Given the description of an element on the screen output the (x, y) to click on. 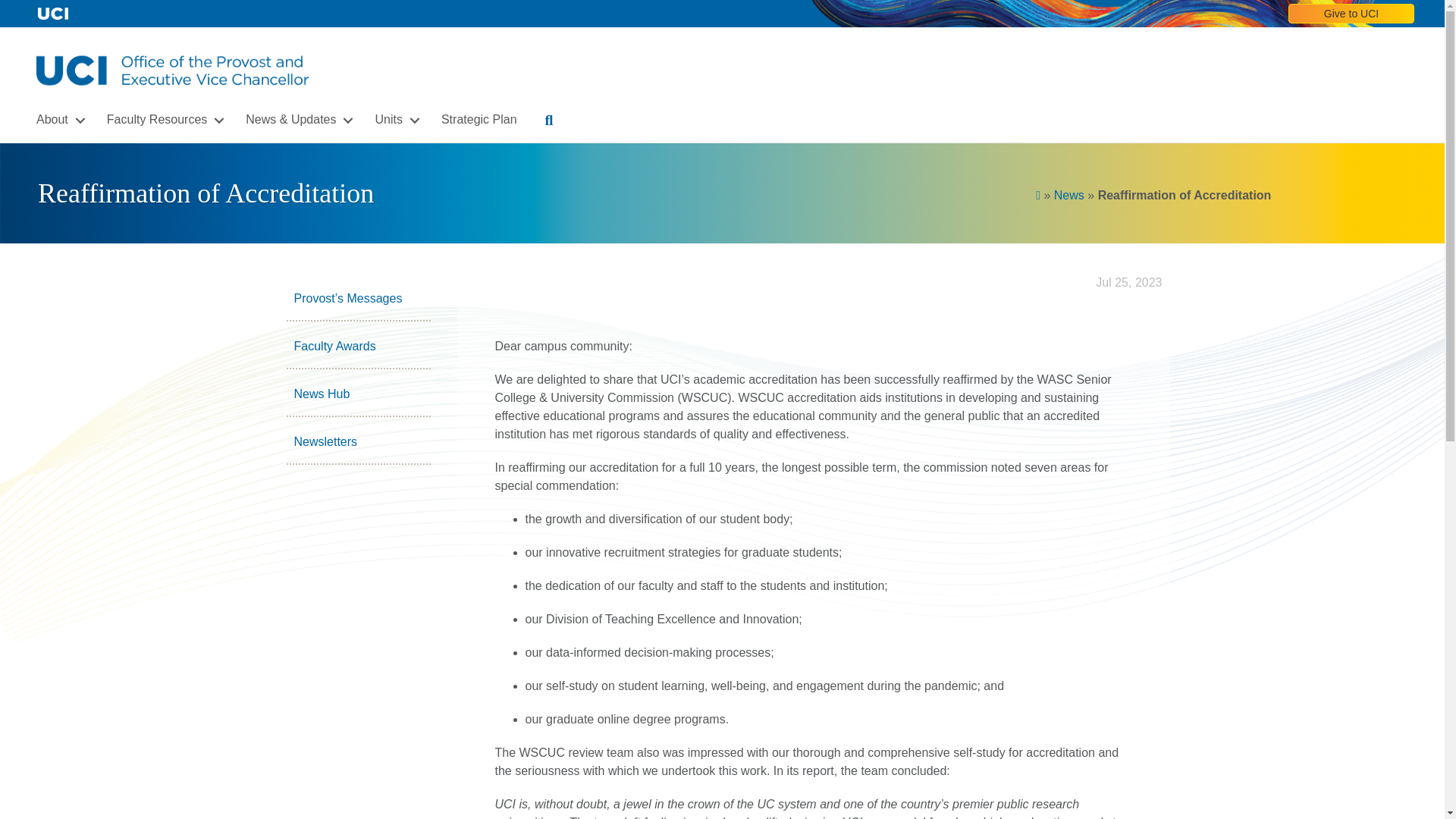
UCI Office of the Provost and Executive Vice Chancellor (172, 70)
Faculty Resources (162, 120)
About (58, 120)
Give to UCI (1350, 13)
Units (393, 120)
uci-primary-wordmark-white (52, 13)
